Given the description of an element on the screen output the (x, y) to click on. 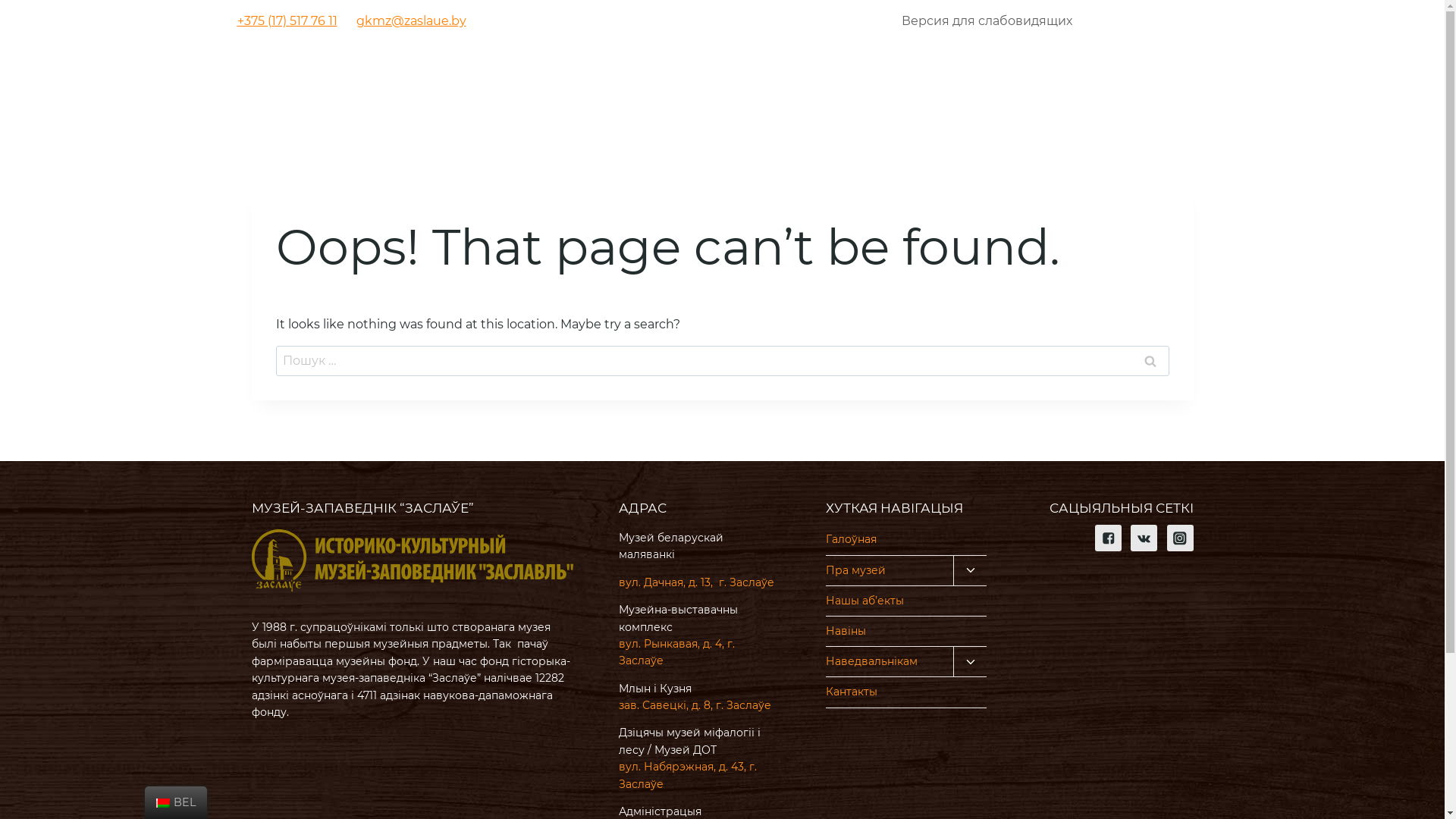
+375 (17) 517 76 11 Element type: text (286, 20)
gkmz@zaslaue.by Element type: text (411, 20)
